Given the description of an element on the screen output the (x, y) to click on. 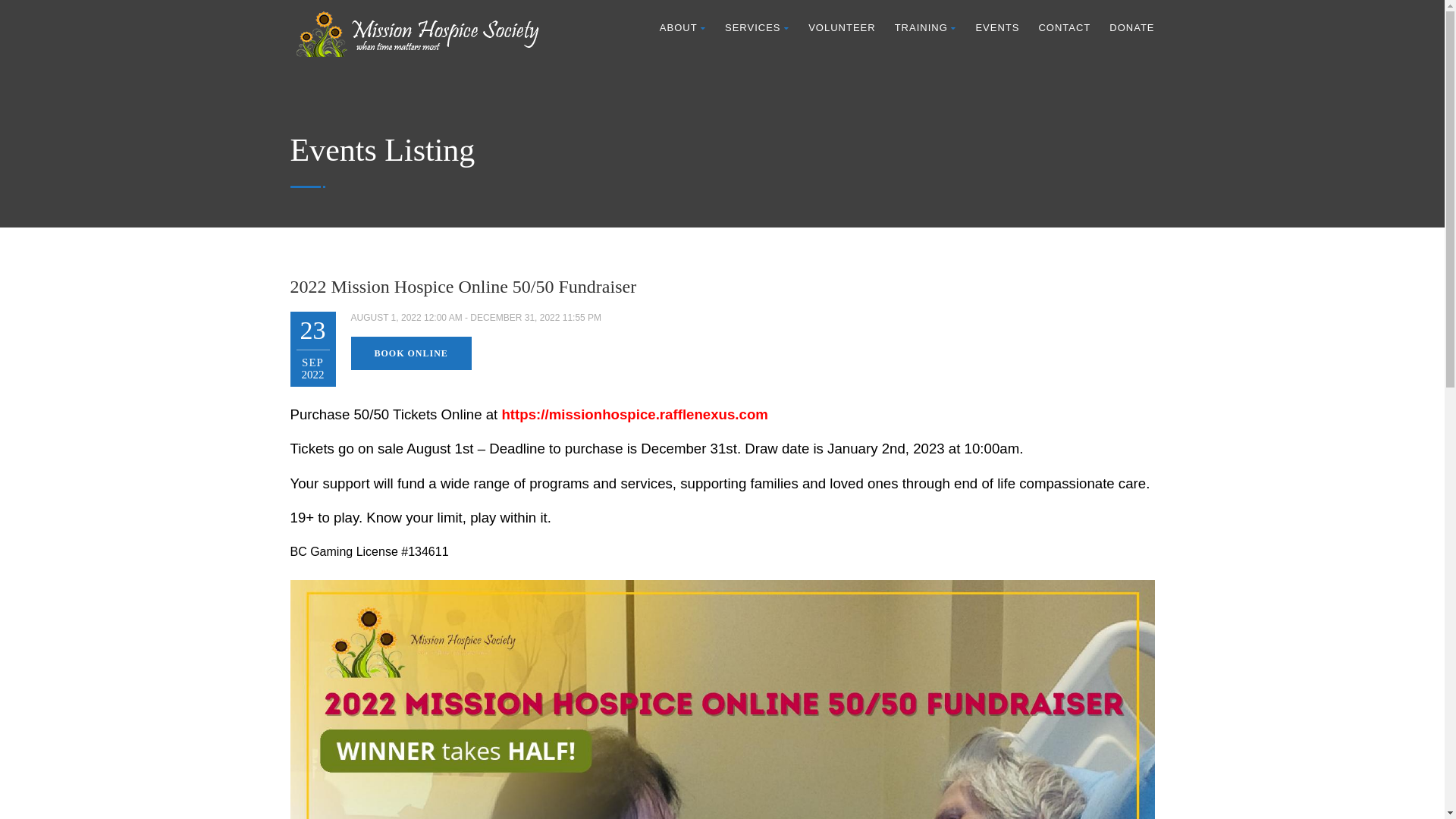
VOLUNTEER Element type: text (841, 28)
TRAINING Element type: text (925, 28)
https://missionhospice.rafflenexus.com Element type: text (634, 414)
SERVICES Element type: text (756, 28)
EVENTS Element type: text (997, 28)
CONTACT Element type: text (1064, 28)
ABOUT Element type: text (682, 28)
DONATE Element type: text (1131, 28)
BOOK ONLINE Element type: text (410, 353)
